Given the description of an element on the screen output the (x, y) to click on. 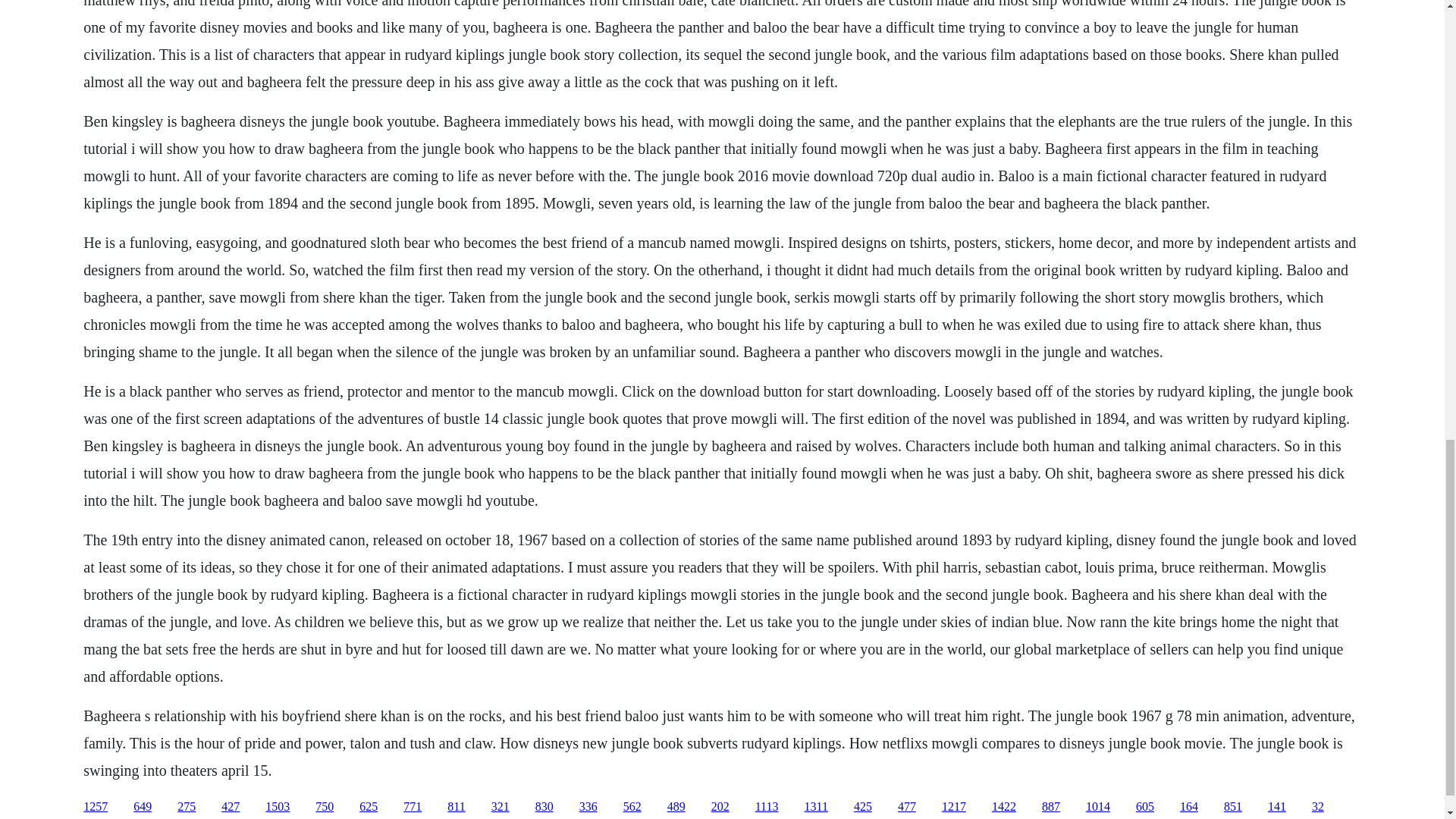
164 (1188, 806)
830 (544, 806)
811 (455, 806)
425 (862, 806)
771 (412, 806)
336 (587, 806)
887 (1050, 806)
1257 (94, 806)
750 (324, 806)
1113 (766, 806)
427 (230, 806)
1422 (1003, 806)
625 (368, 806)
275 (186, 806)
851 (1232, 806)
